Given the description of an element on the screen output the (x, y) to click on. 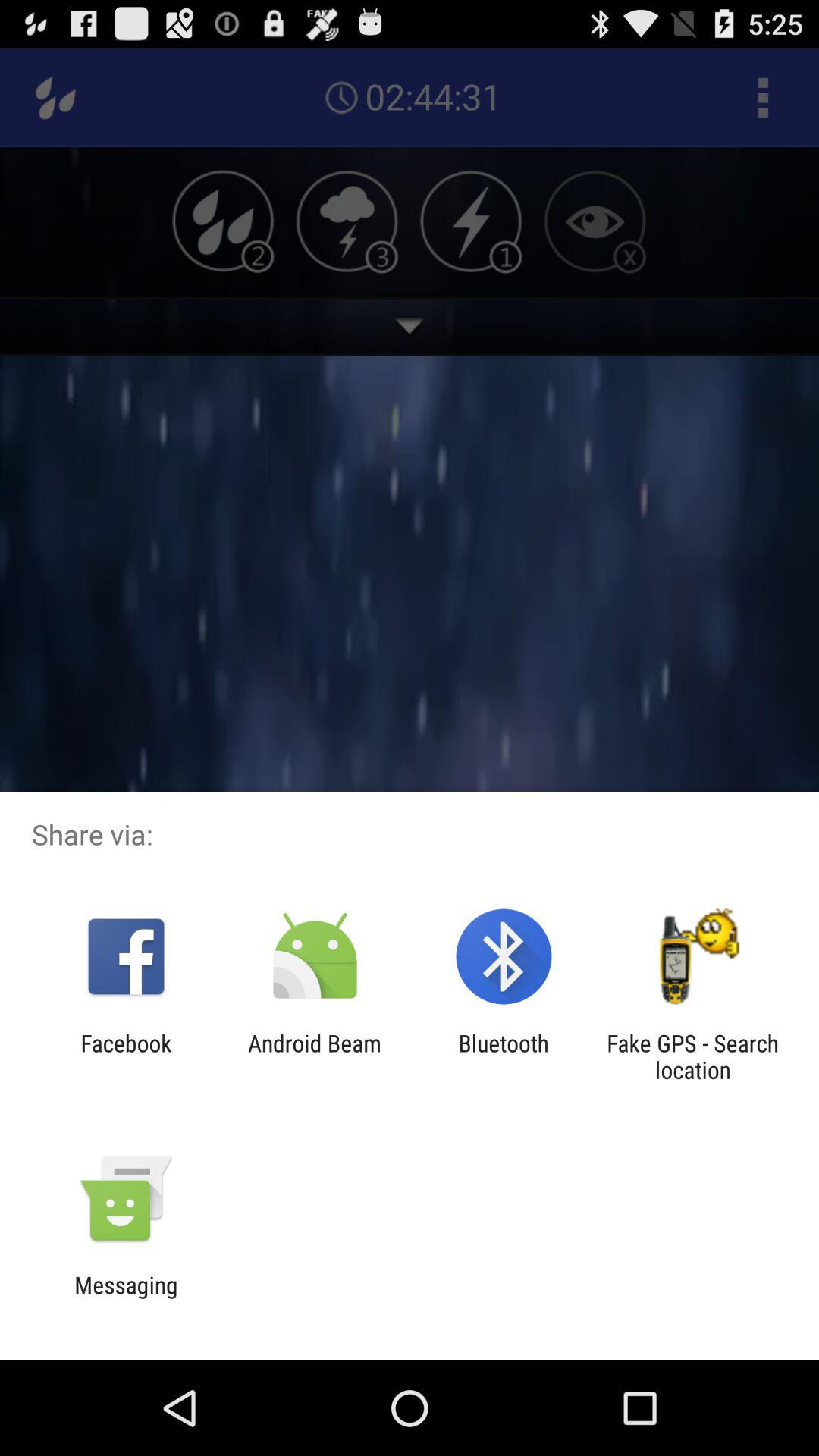
jump to the facebook (125, 1056)
